Given the description of an element on the screen output the (x, y) to click on. 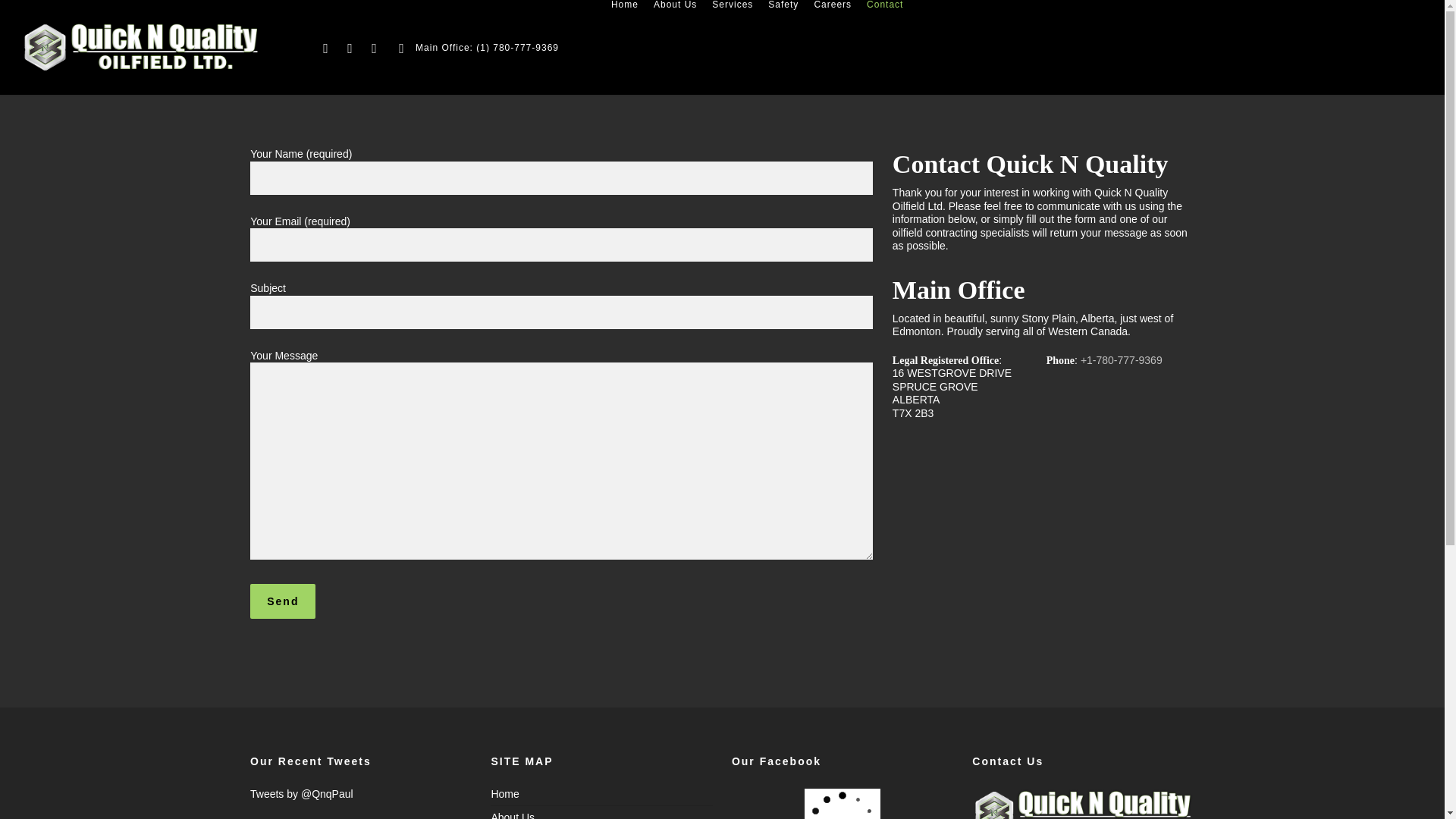
Contact (885, 4)
About Us (601, 812)
Send (282, 601)
Services (732, 4)
Safety (783, 4)
linkedin (374, 47)
Home (601, 796)
twitter (326, 47)
About Us (675, 4)
phone (401, 47)
Send (282, 601)
Home (625, 4)
Careers (832, 4)
facebook (350, 47)
